Given the description of an element on the screen output the (x, y) to click on. 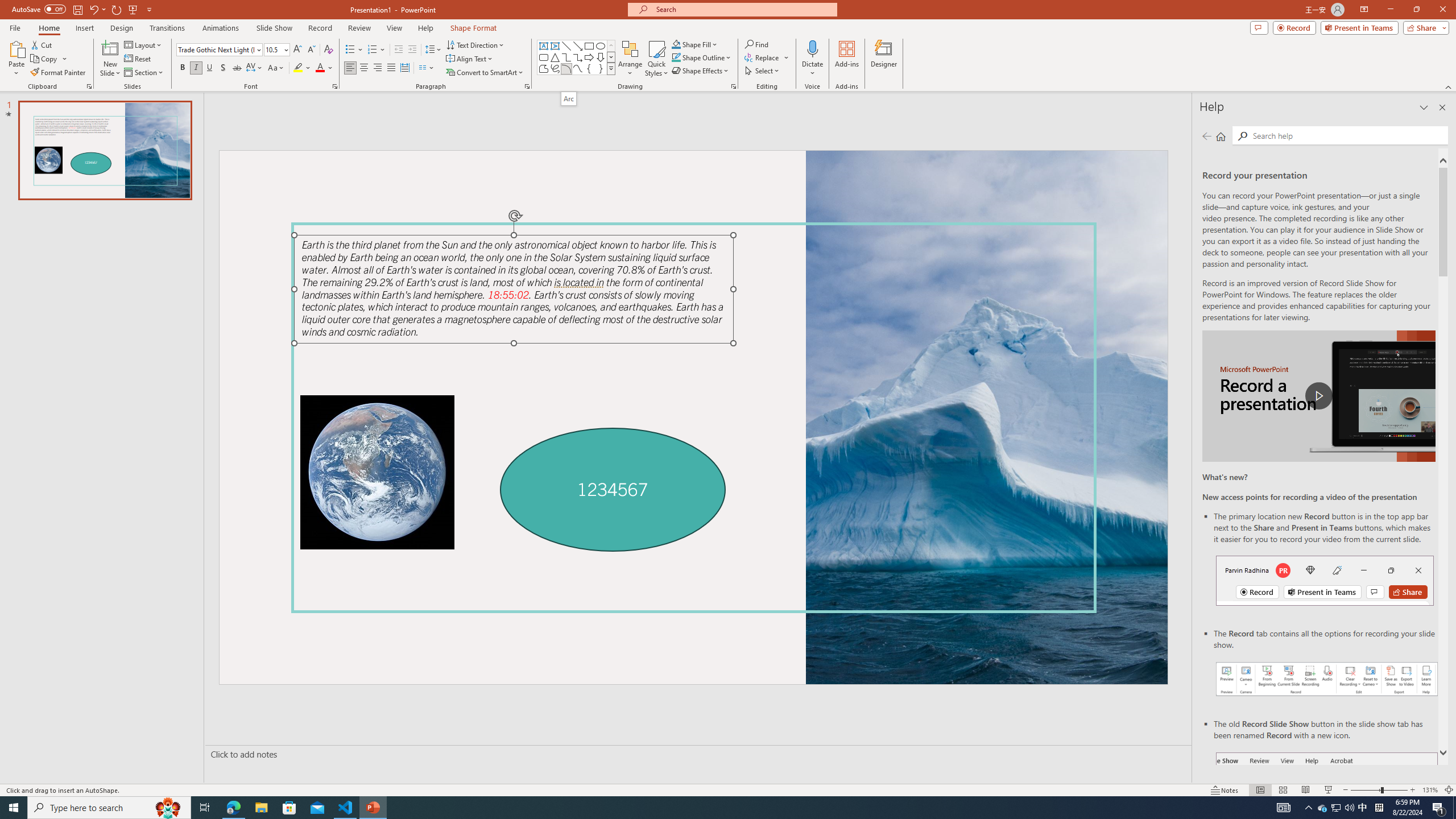
Record your presentations screenshot one (1326, 678)
Record button in top bar (1324, 580)
